Given the description of an element on the screen output the (x, y) to click on. 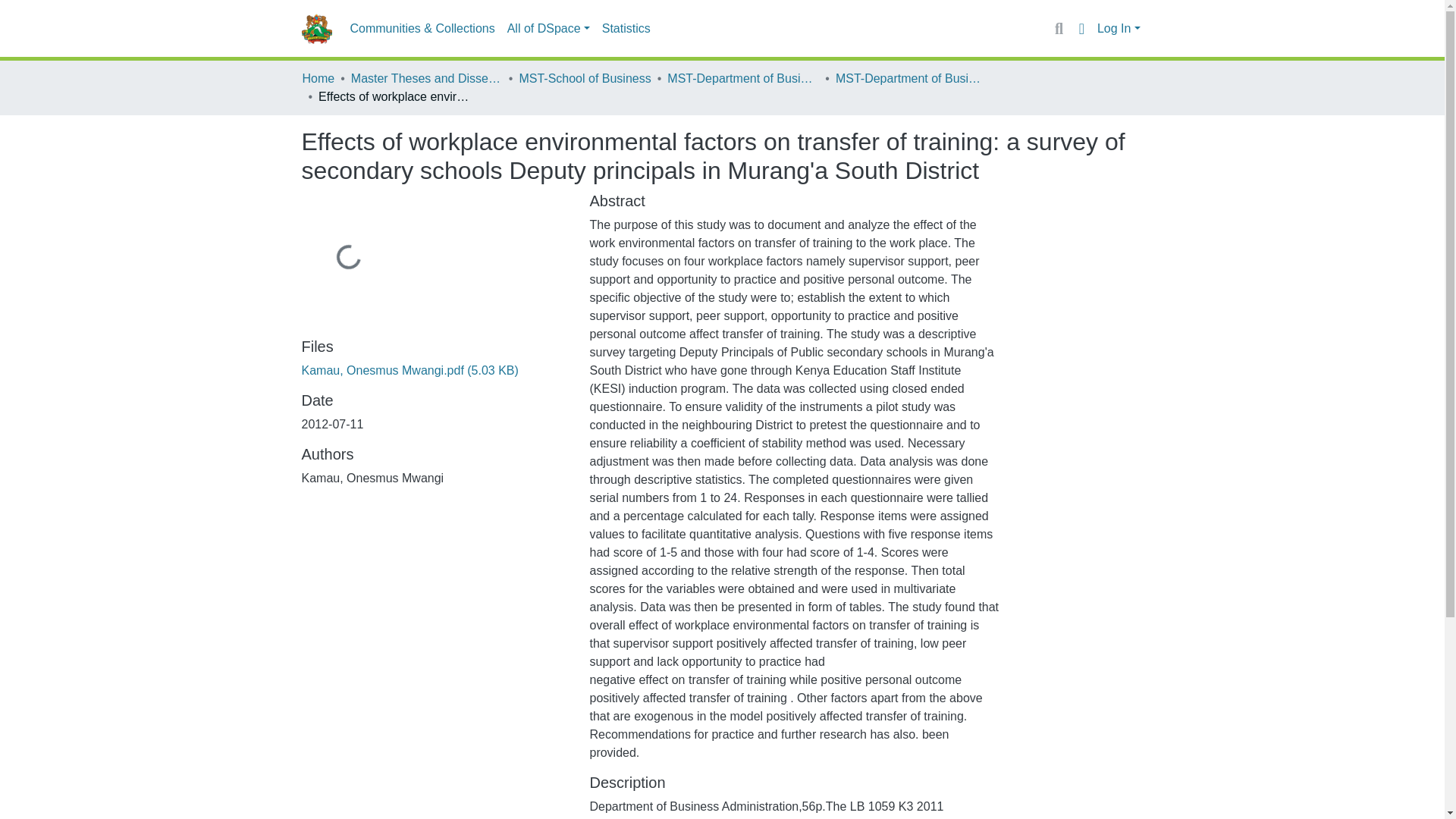
Home (317, 78)
Statistics (625, 28)
Search (1058, 28)
MST-Department of Business Administration (911, 78)
Language switch (1081, 28)
MST-Department of Business Administration (742, 78)
MST-School of Business (584, 78)
Statistics (625, 28)
All of DSpace (547, 28)
Log In (1118, 28)
